Given the description of an element on the screen output the (x, y) to click on. 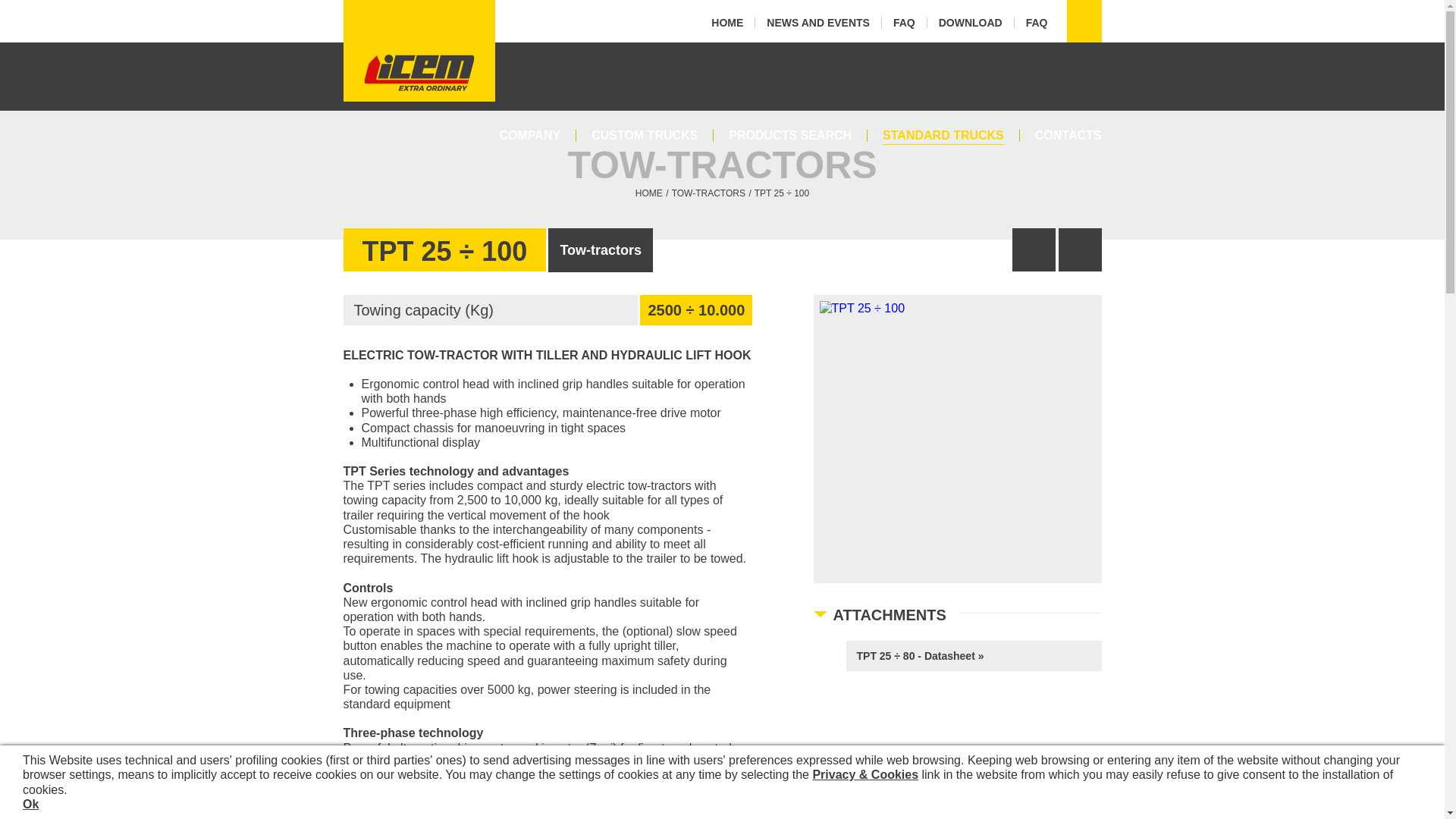
Frequently asked questions (904, 22)
NEWS AND EVENTS (817, 22)
ICEM (418, 71)
Custom trucks (644, 135)
CUSTOM TRUCKS (644, 135)
PRODUCTS SEARCH (789, 135)
COMPANY (530, 135)
Frequently asked questions (1036, 22)
CONTACTS (1068, 135)
FAQ (904, 22)
